Given the description of an element on the screen output the (x, y) to click on. 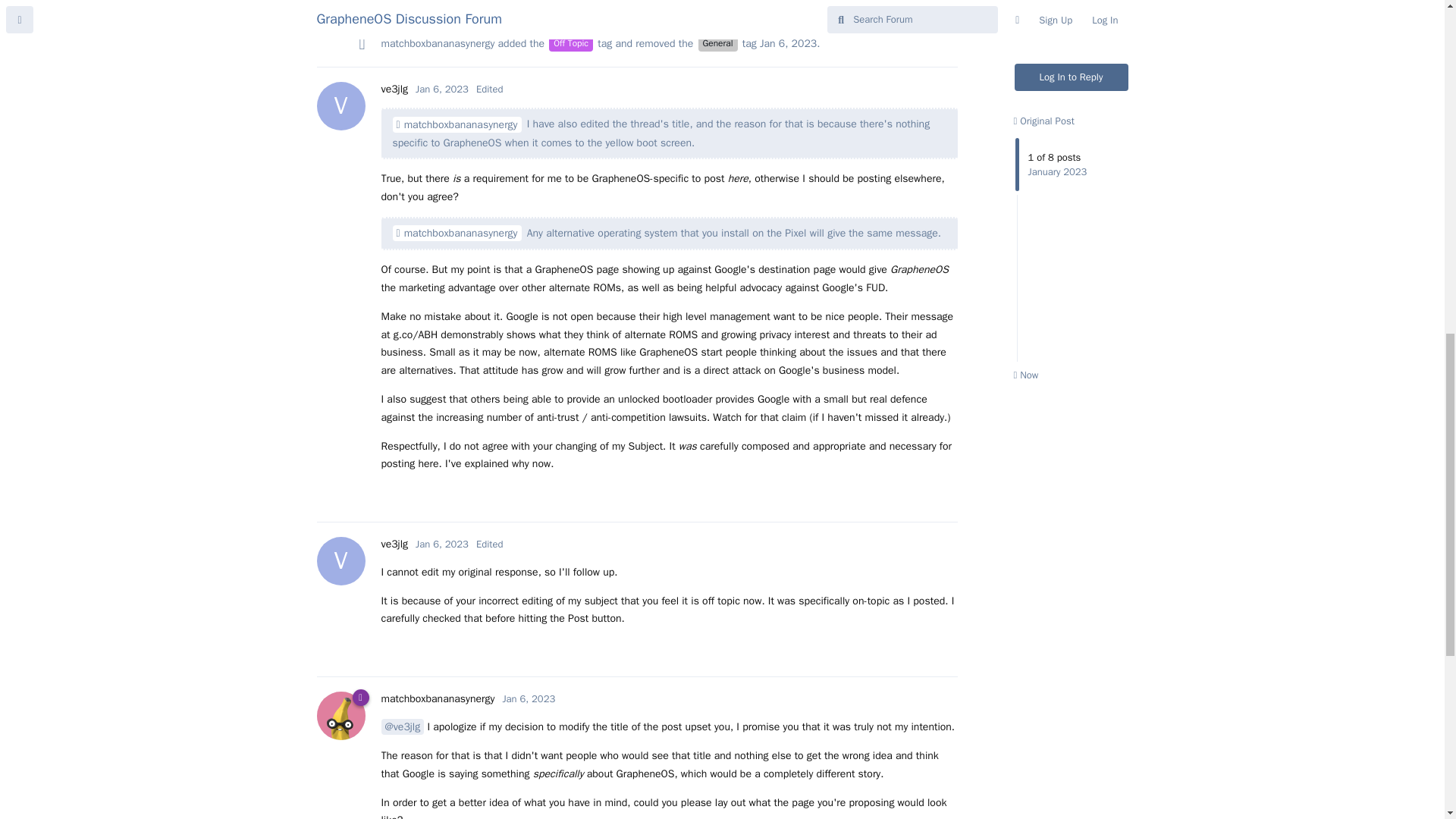
matchboxbananasynergy (437, 2)
matchboxbananasynergy (457, 232)
Friday, January 6, 2023 2:02 AM (788, 42)
Jan 6, 2023 (393, 88)
Friday, January 6, 2023 10:13 AM (528, 698)
Friday, January 6, 2023 2:50 AM (528, 698)
matchboxbananasynergy (441, 543)
General (437, 42)
Friday, January 6, 2023 2:34 AM (716, 43)
matchboxbananasynergy (441, 88)
Jan 6, 2023 (437, 698)
Off Topic (393, 543)
matchboxbananasynergy (441, 88)
